Given the description of an element on the screen output the (x, y) to click on. 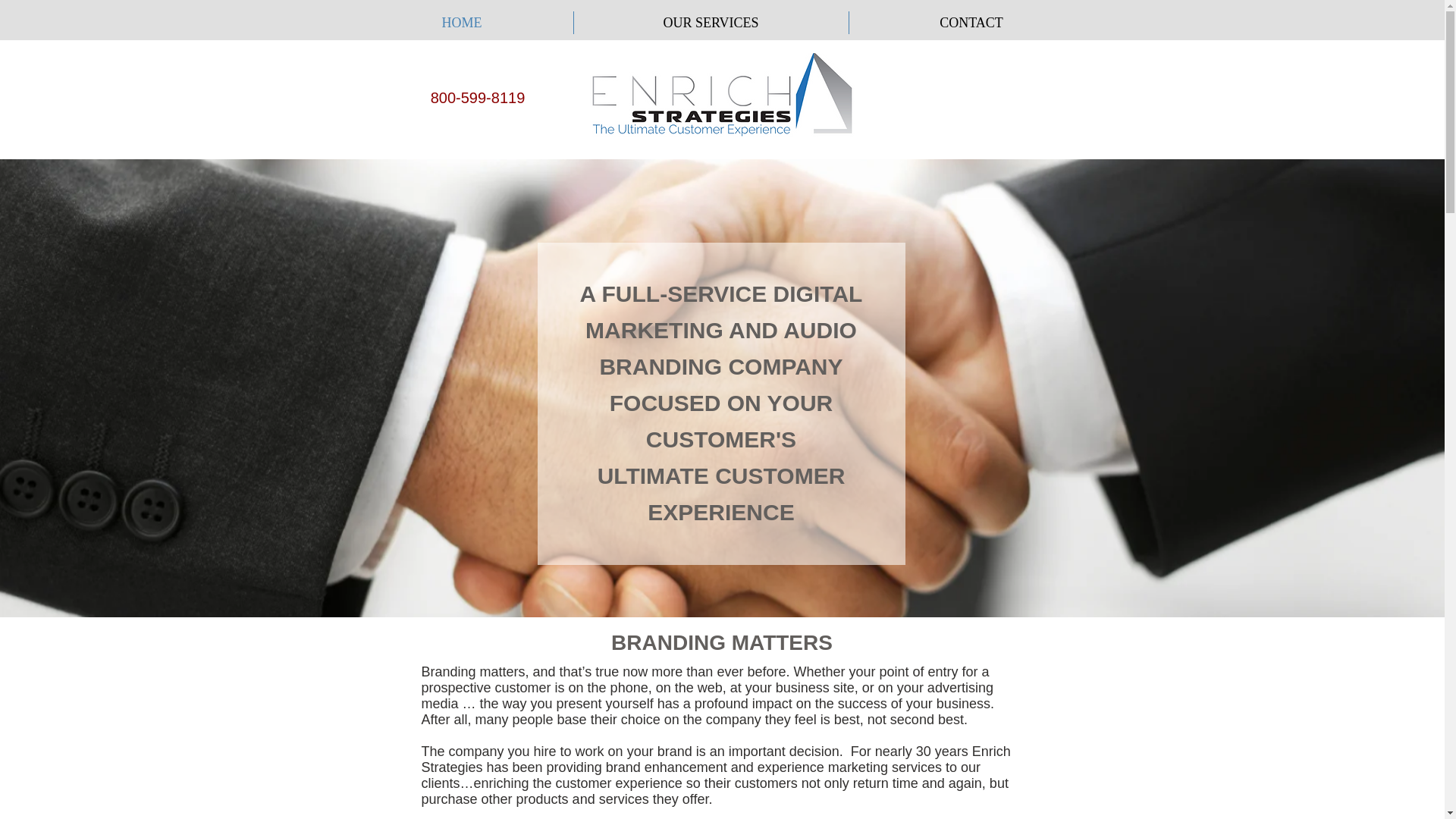
HOME (461, 22)
CONTACT (971, 22)
800-599-8119 (477, 97)
OUR SERVICES (710, 22)
BRANDING MATTERS (721, 642)
